Given the description of an element on the screen output the (x, y) to click on. 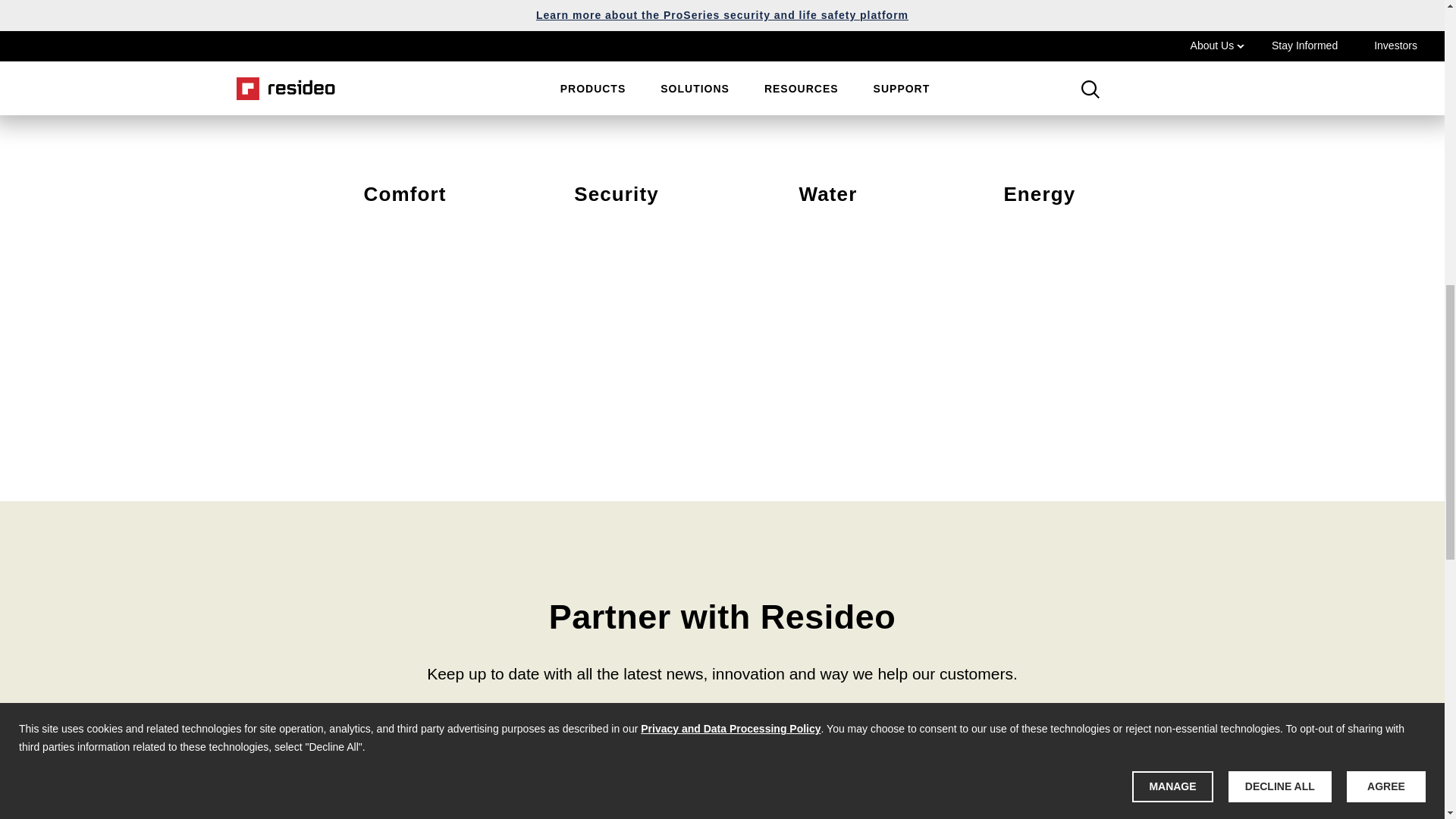
Facebook group page (1056, 789)
Online courses and webinars for product training (390, 789)
Sign up for for email updates (722, 789)
